Given the description of an element on the screen output the (x, y) to click on. 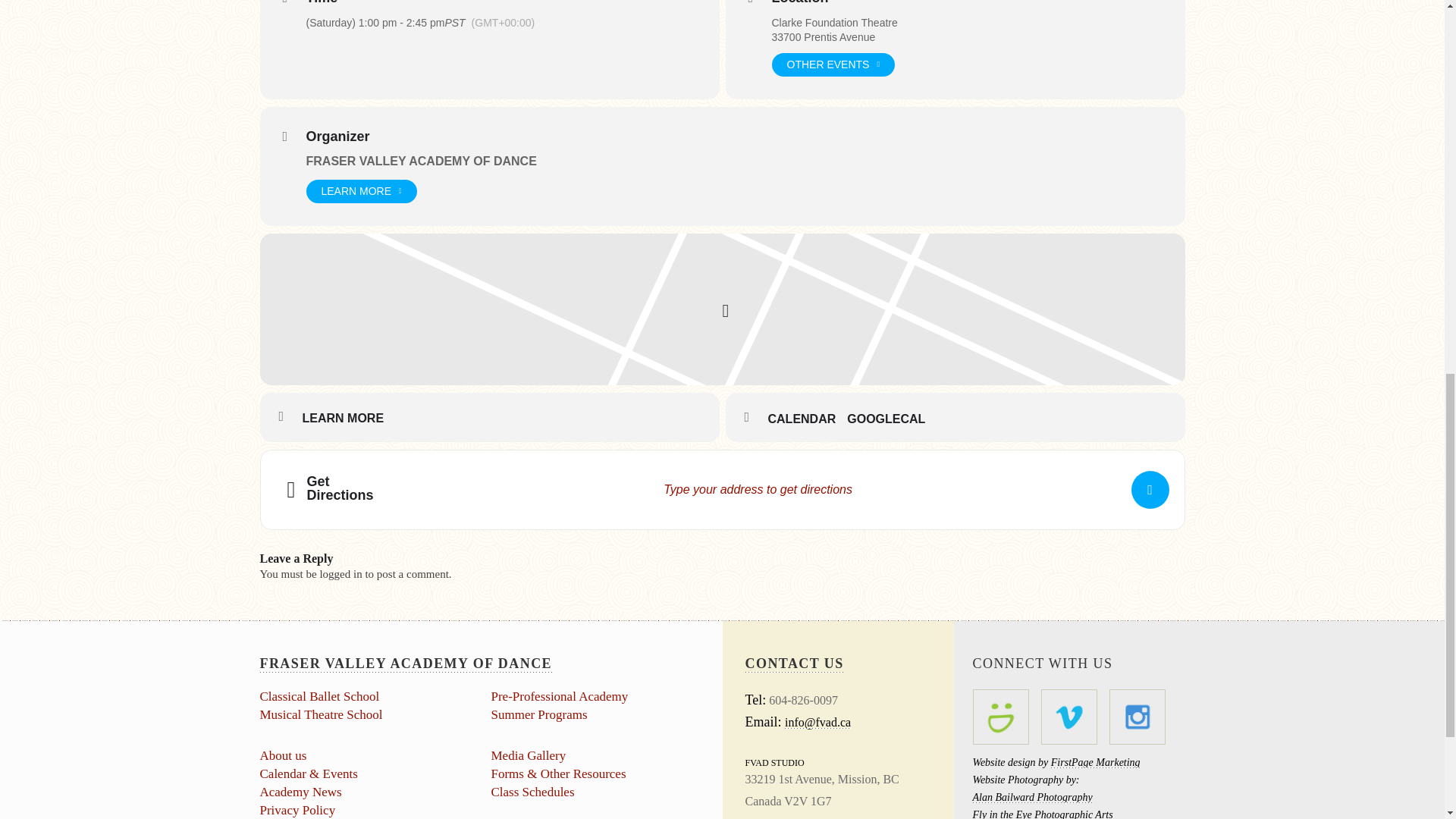
Classical Ballet School (318, 696)
Add to your calendar (807, 418)
Add to google calendar (891, 418)
Click here to get directions (1150, 489)
Summer Programs (540, 714)
Pre-Professional Academy (560, 696)
